Given the description of an element on the screen output the (x, y) to click on. 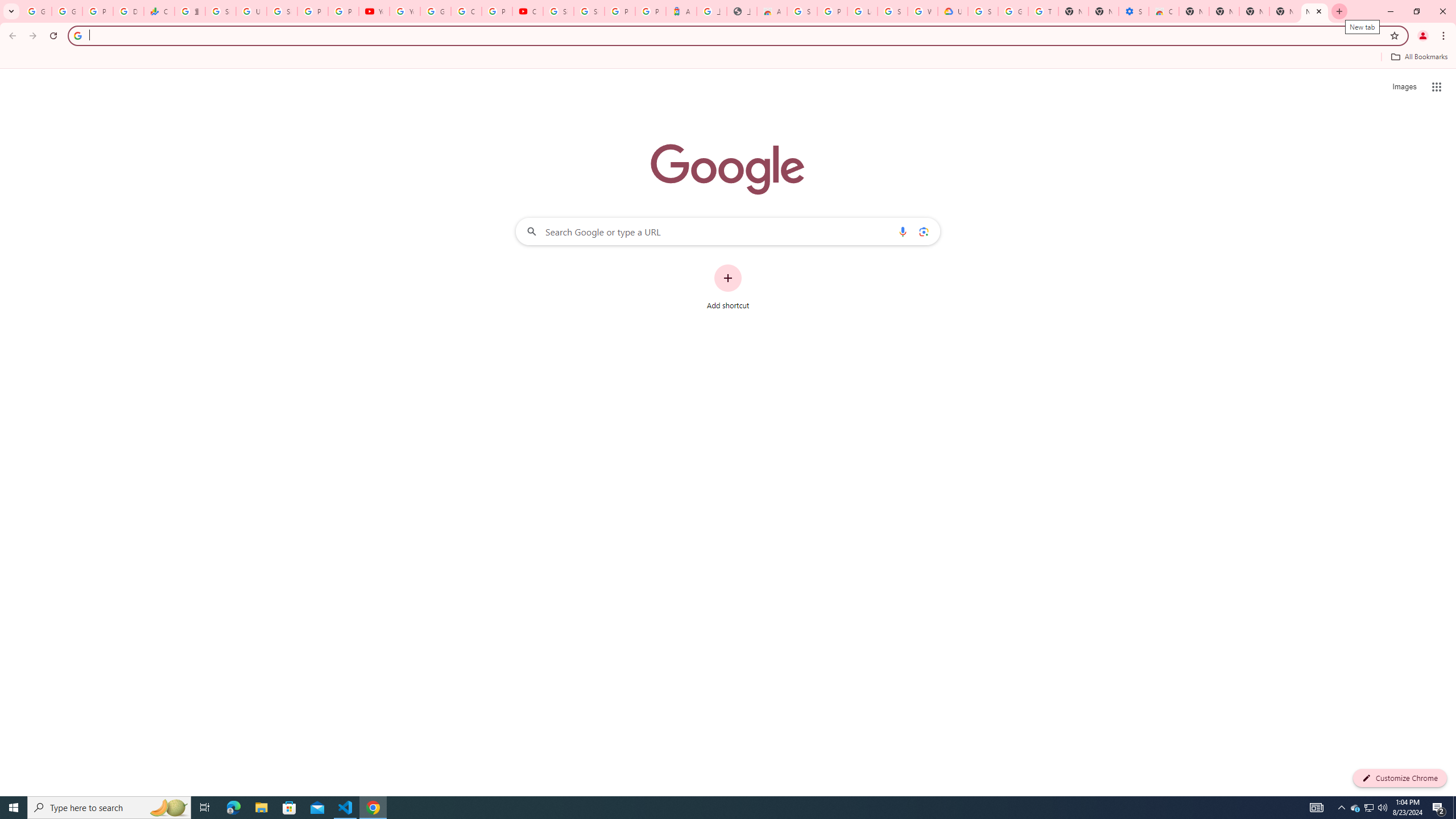
Privacy Checkup (343, 11)
Chrome Web Store - Accessibility extensions (1163, 11)
New Tab (1314, 11)
